Given the description of an element on the screen output the (x, y) to click on. 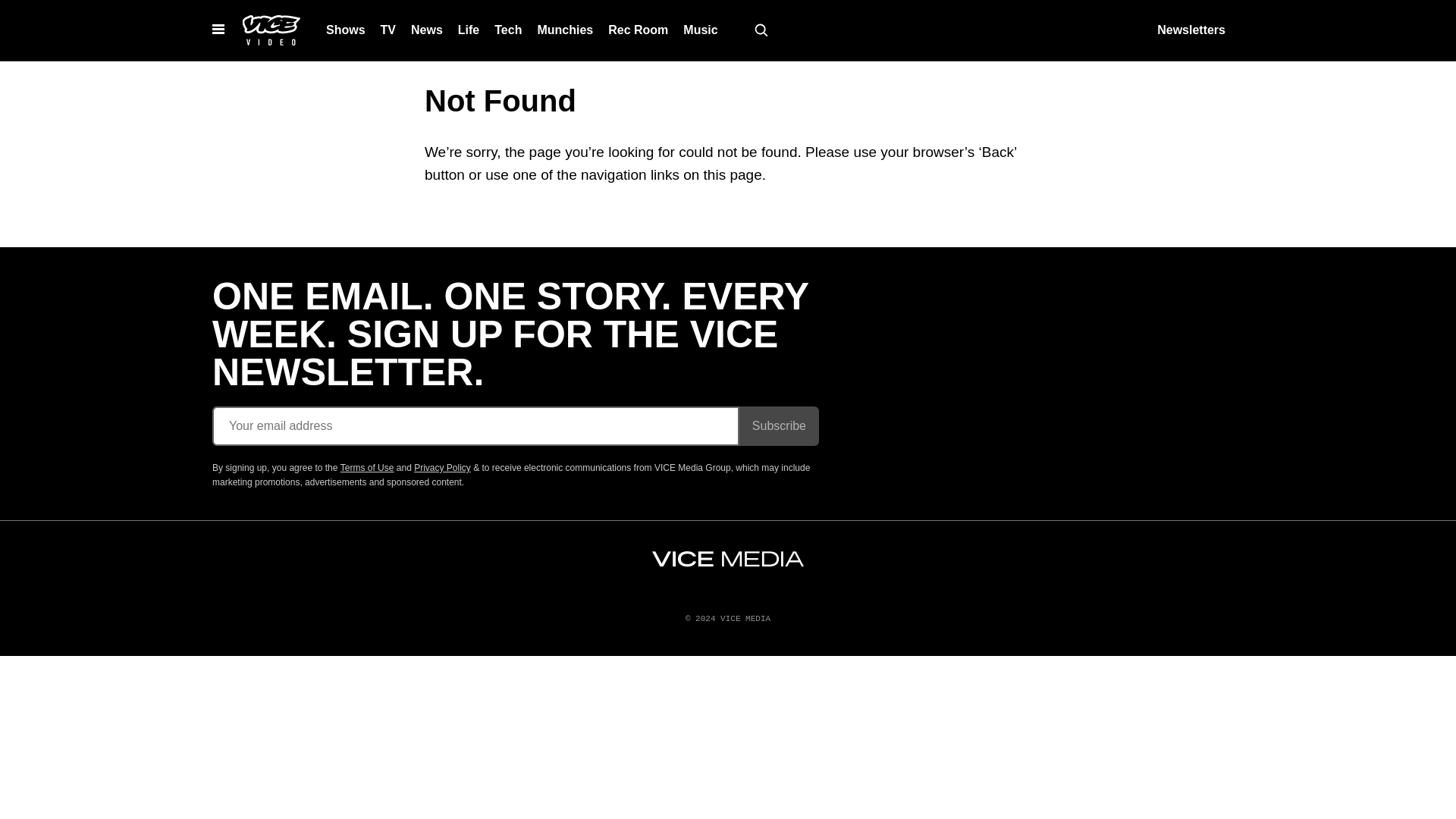
News (426, 29)
Munchies (564, 29)
TV (387, 29)
VICE MEDIA (727, 559)
Newsletter Signup Form (515, 425)
Shows (345, 29)
Newsletters (1191, 29)
Privacy Policy (441, 467)
Rec Room (637, 29)
Tech (507, 29)
